Given the description of an element on the screen output the (x, y) to click on. 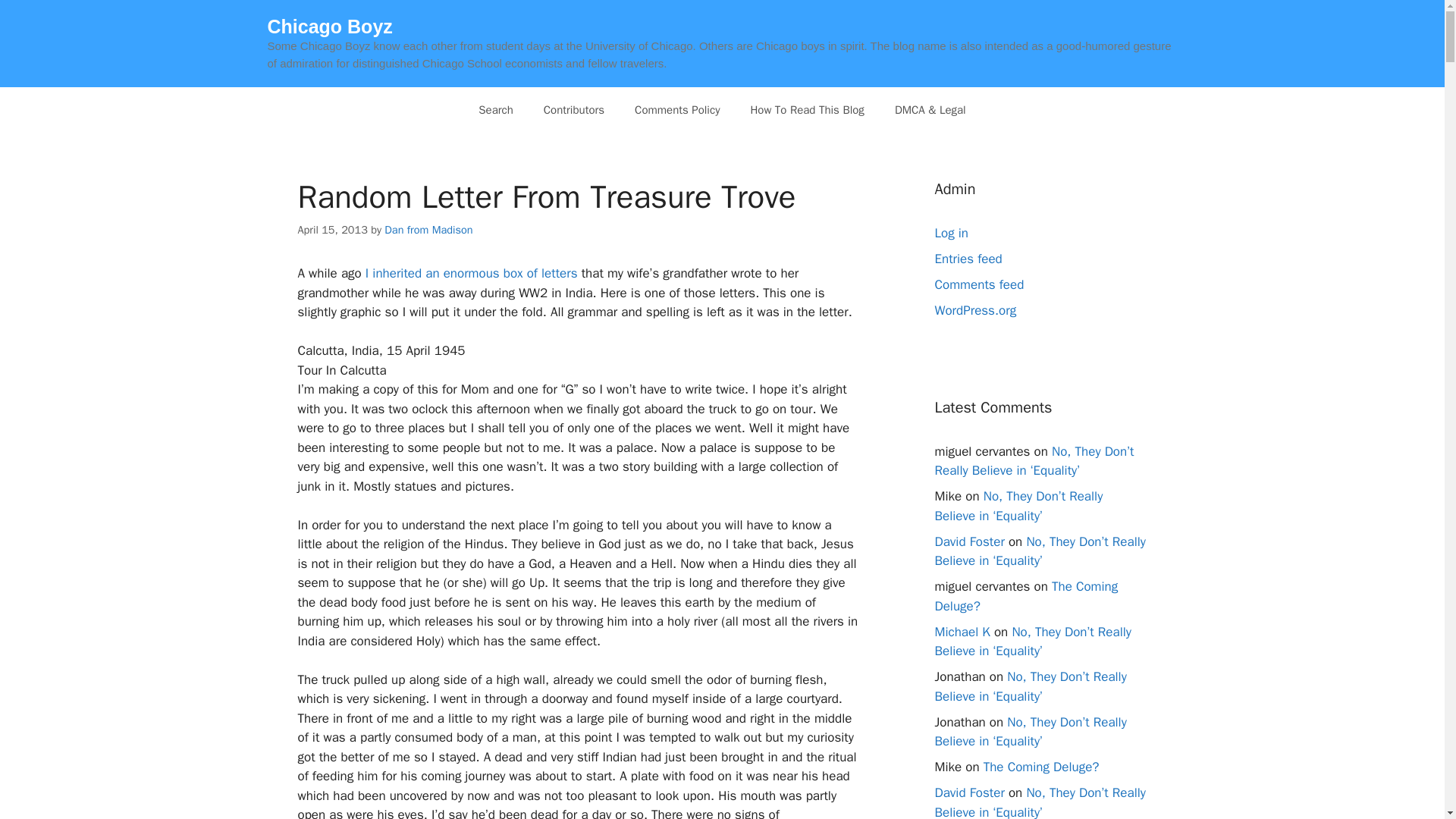
Comments Policy (677, 109)
I inherited an enormous box of letters (471, 273)
WordPress.org (975, 310)
Entries feed (967, 258)
Search (495, 109)
Michael K (962, 631)
David Foster (969, 541)
Log in (951, 232)
The Coming Deluge? (1026, 596)
View all posts by Dan from Madison (427, 229)
